Given the description of an element on the screen output the (x, y) to click on. 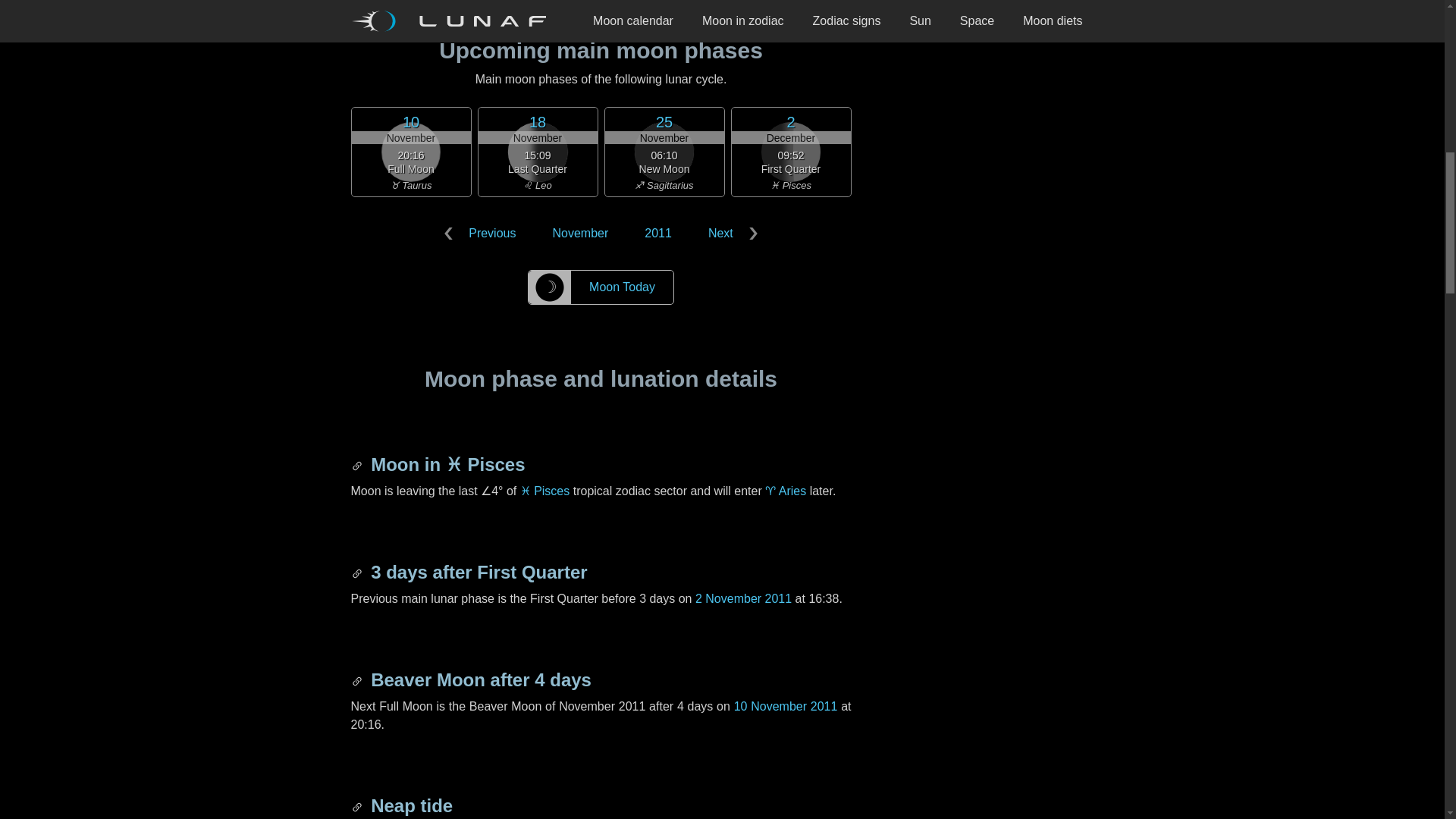
2 November 2011 (743, 598)
2011 (658, 233)
Next (730, 233)
Previous (483, 233)
November (580, 233)
10 November 2011 (785, 706)
